Given the description of an element on the screen output the (x, y) to click on. 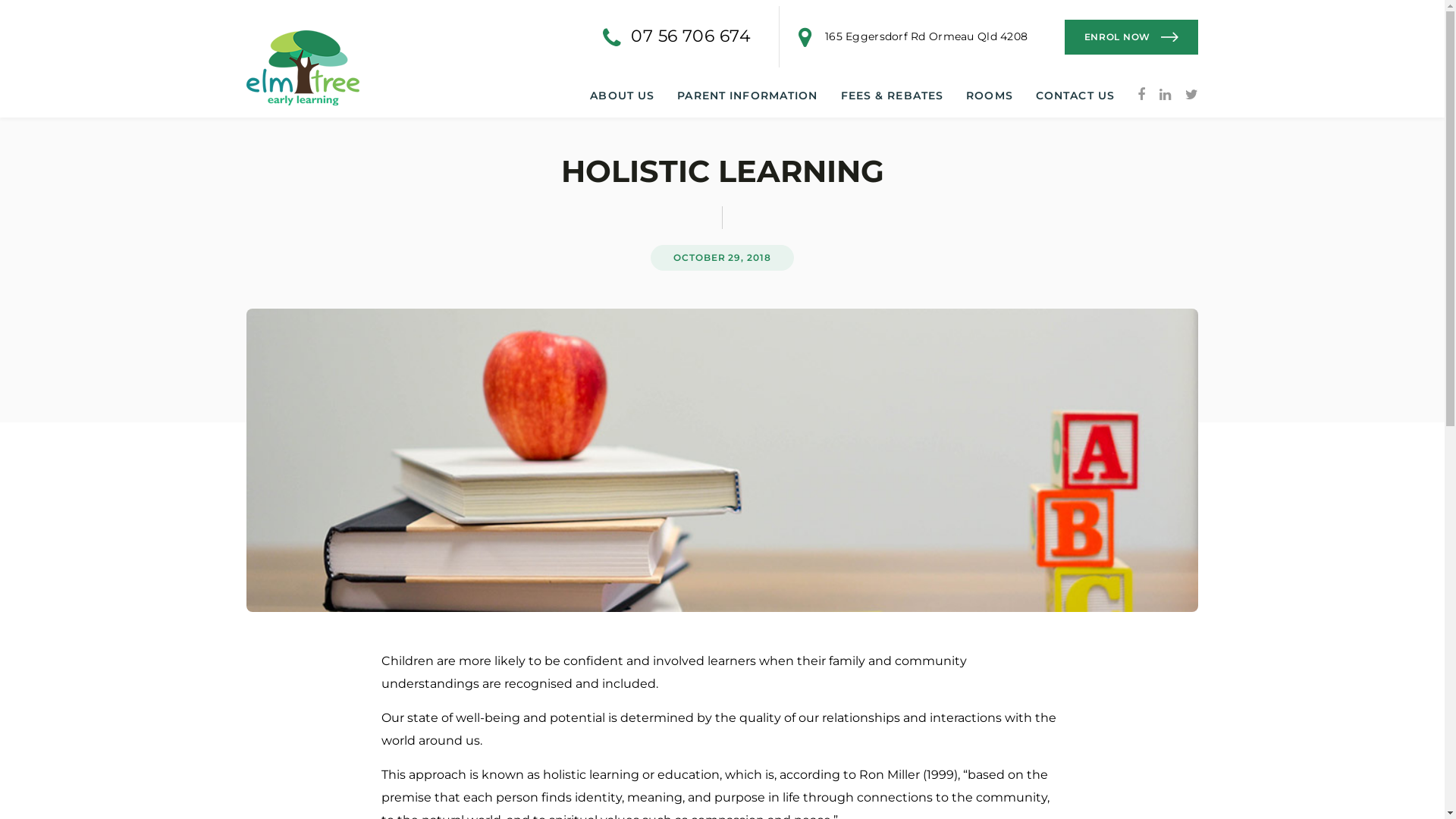
ENROL NOW Element type: text (1131, 36)
ABOUT US Element type: text (621, 95)
FEES & REBATES Element type: text (891, 95)
07 56 706 674 Element type: text (690, 35)
CONTACT US Element type: text (1074, 95)
ROOMS Element type: text (989, 95)
PARENT INFORMATION Element type: text (747, 95)
